Given the description of an element on the screen output the (x, y) to click on. 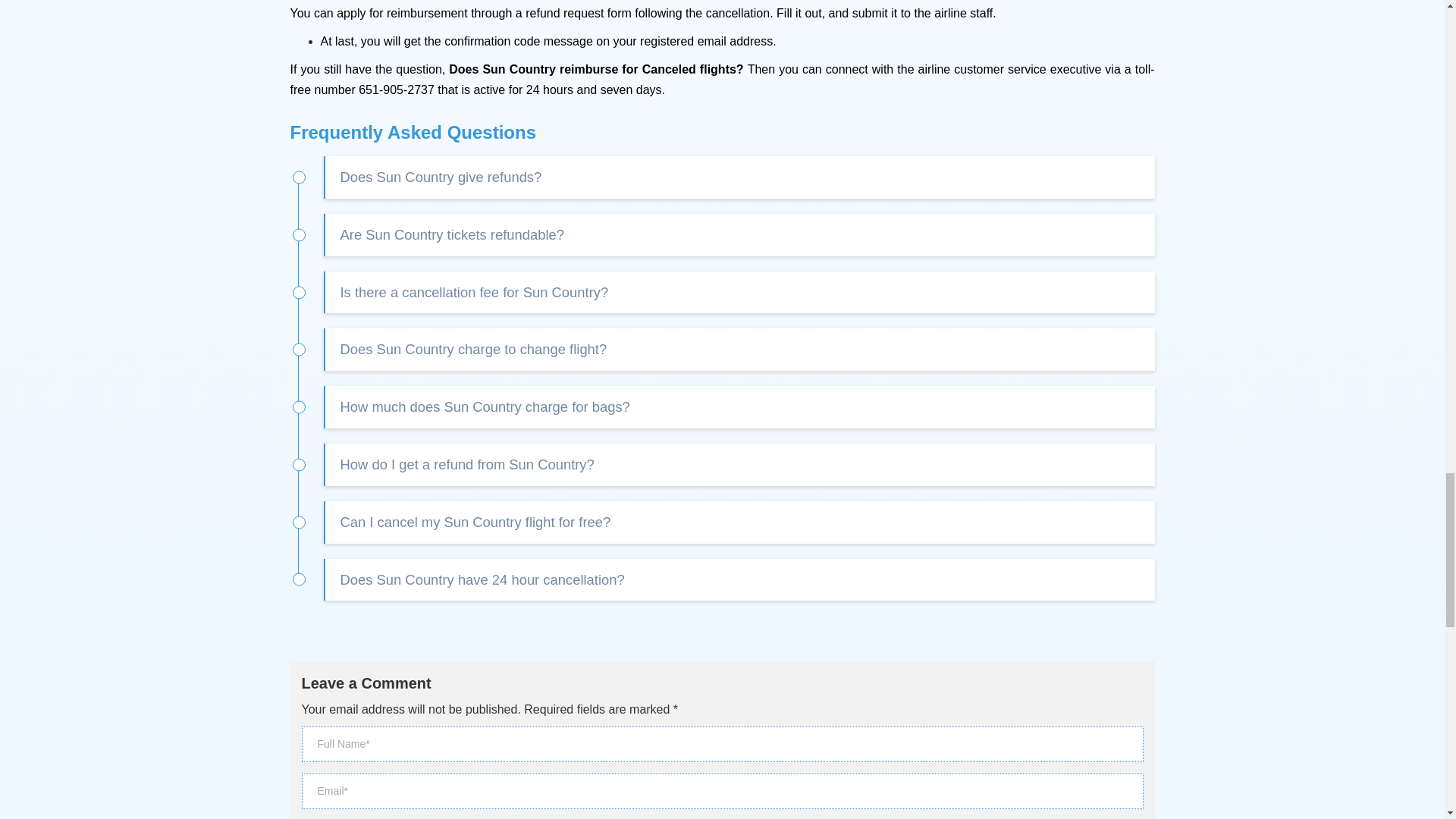
Are Sun Country tickets refundable? (739, 234)
How do I get a refund from Sun Country? (739, 464)
Is there a cancellation fee for Sun Country? (739, 292)
Does Sun Country give refunds? (739, 177)
Does Sun Country charge to change flight? (739, 349)
Can I cancel my Sun Country flight for free? (739, 522)
Does Sun Country have 24 hour cancellation? (739, 579)
How much does Sun Country charge for bags? (739, 406)
